Given the description of an element on the screen output the (x, y) to click on. 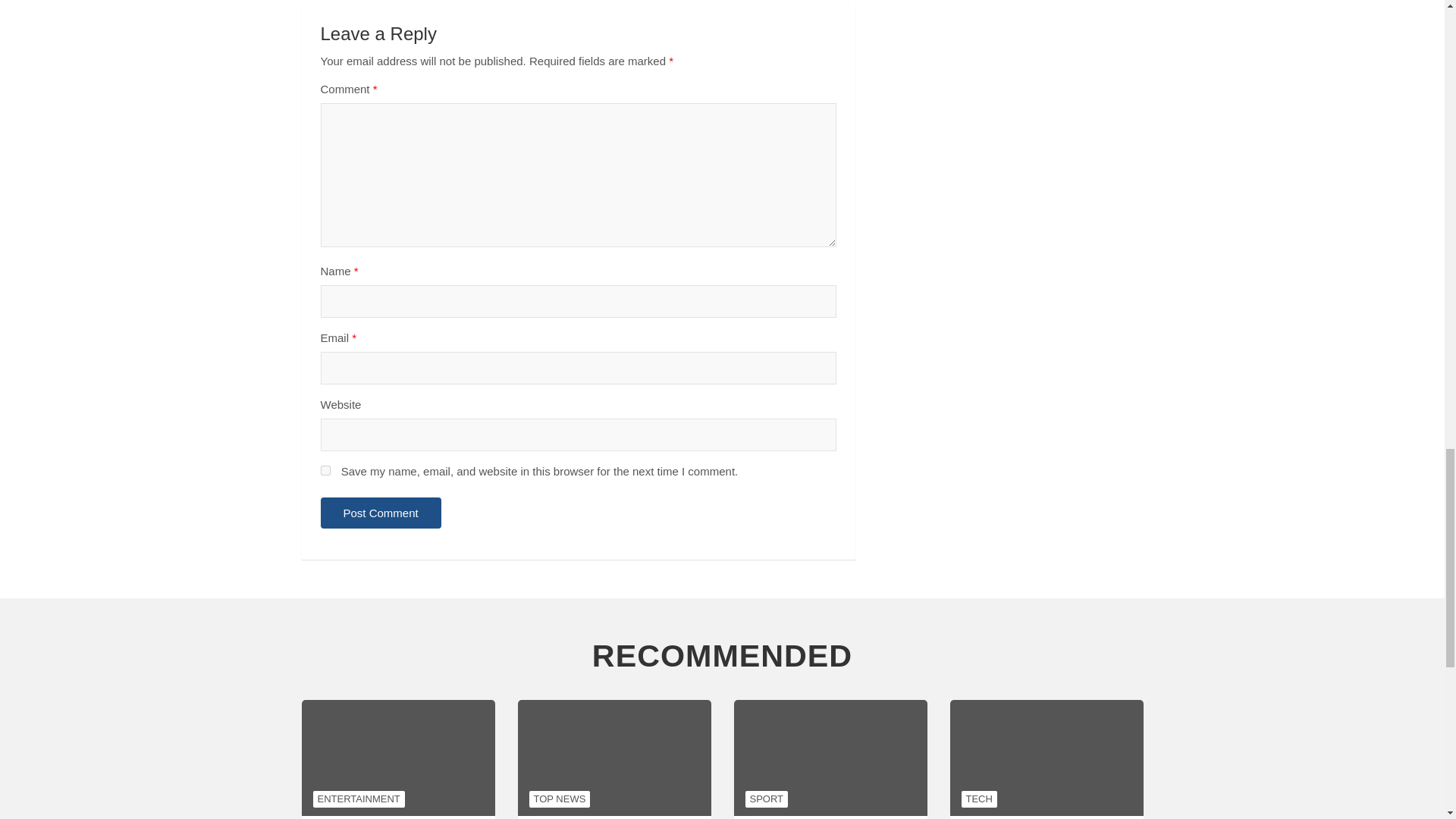
Post Comment (380, 512)
Post Comment (380, 512)
yes (325, 470)
